Given the description of an element on the screen output the (x, y) to click on. 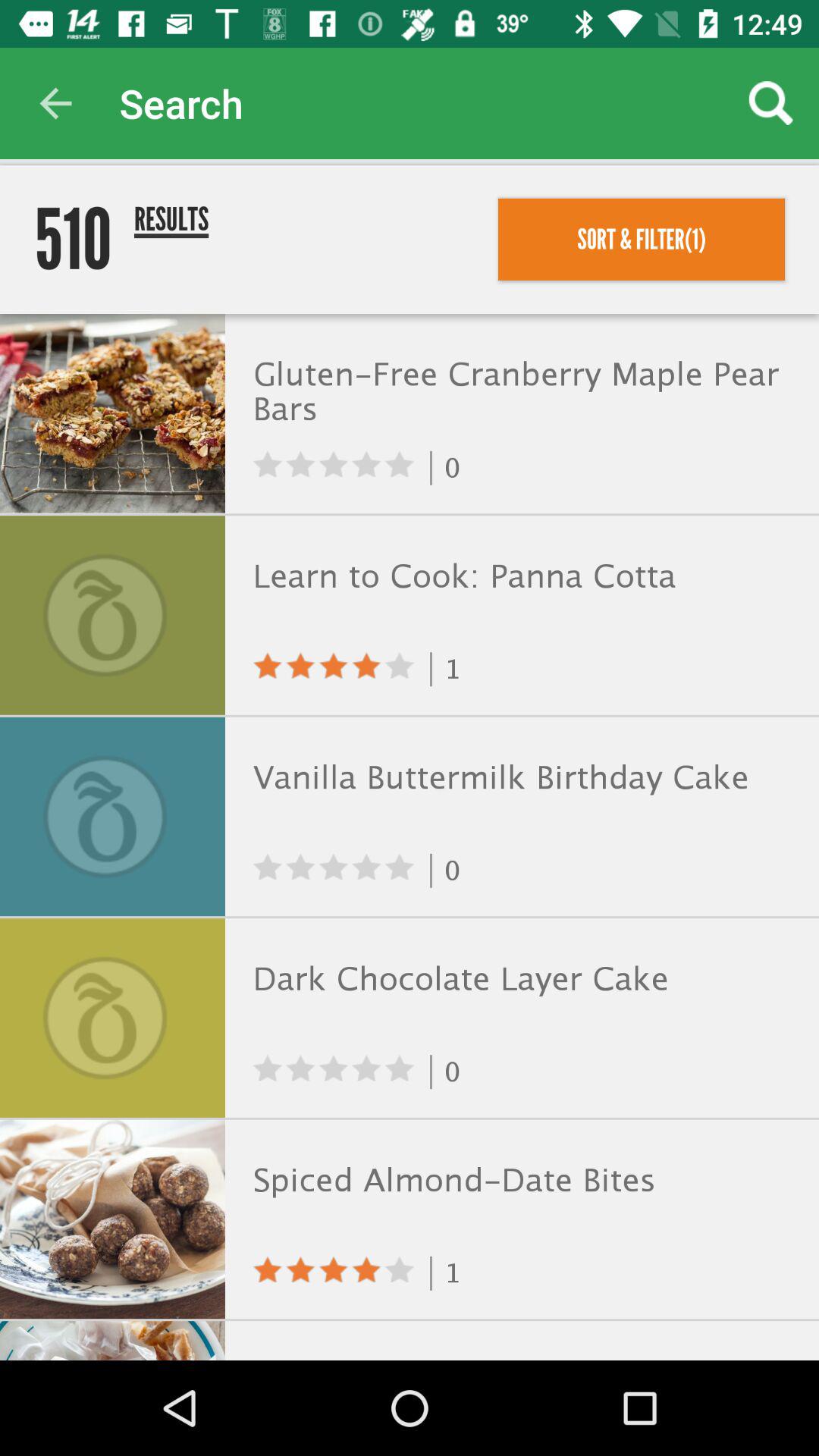
turn off the spiced almond date icon (518, 1180)
